Given the description of an element on the screen output the (x, y) to click on. 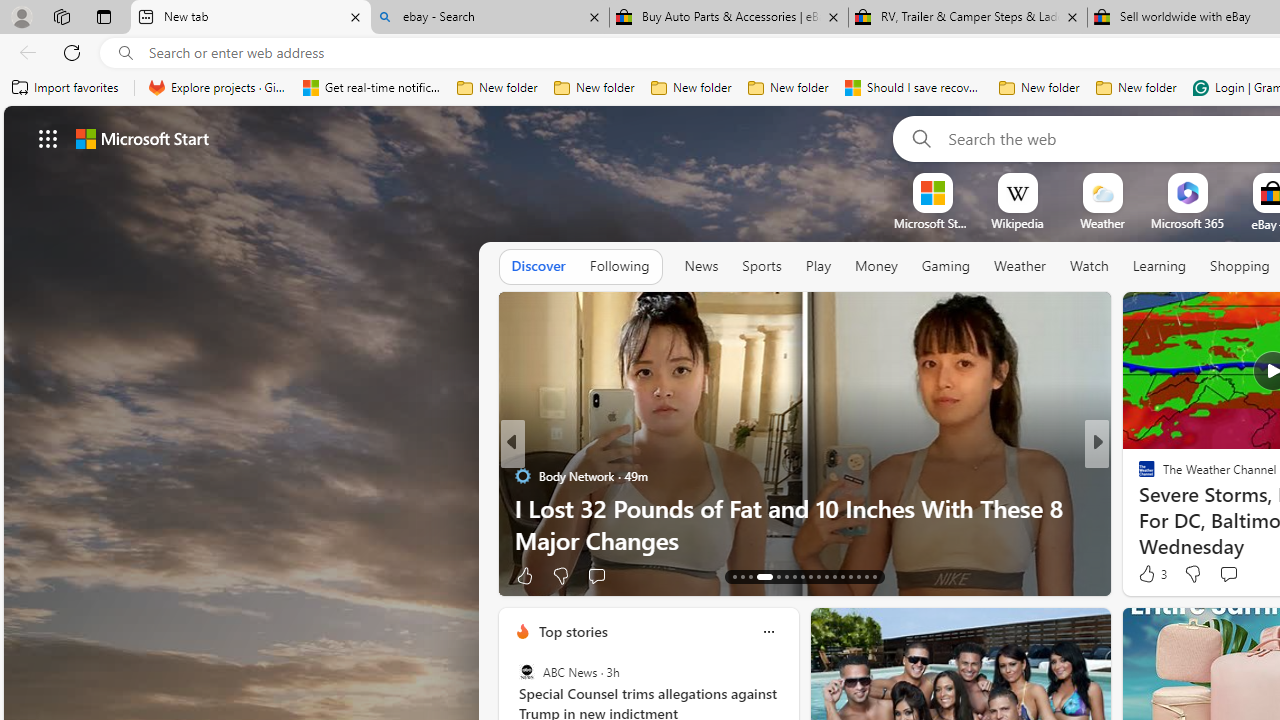
News (701, 265)
Shopping (1240, 265)
AutomationID: tab-22 (818, 576)
138 Like (535, 574)
99 Like (1149, 574)
View comments 167 Comment (1234, 575)
View comments 167 Comment (1247, 574)
116 Like (1151, 574)
AutomationID: tab-20 (801, 576)
Simply More Time (1138, 507)
AutomationID: tab-14 (742, 576)
Microsoft Start Sports (932, 223)
Sports (761, 265)
AutomationID: tab-26 (850, 576)
AutomationID: tab-15 (750, 576)
